Given the description of an element on the screen output the (x, y) to click on. 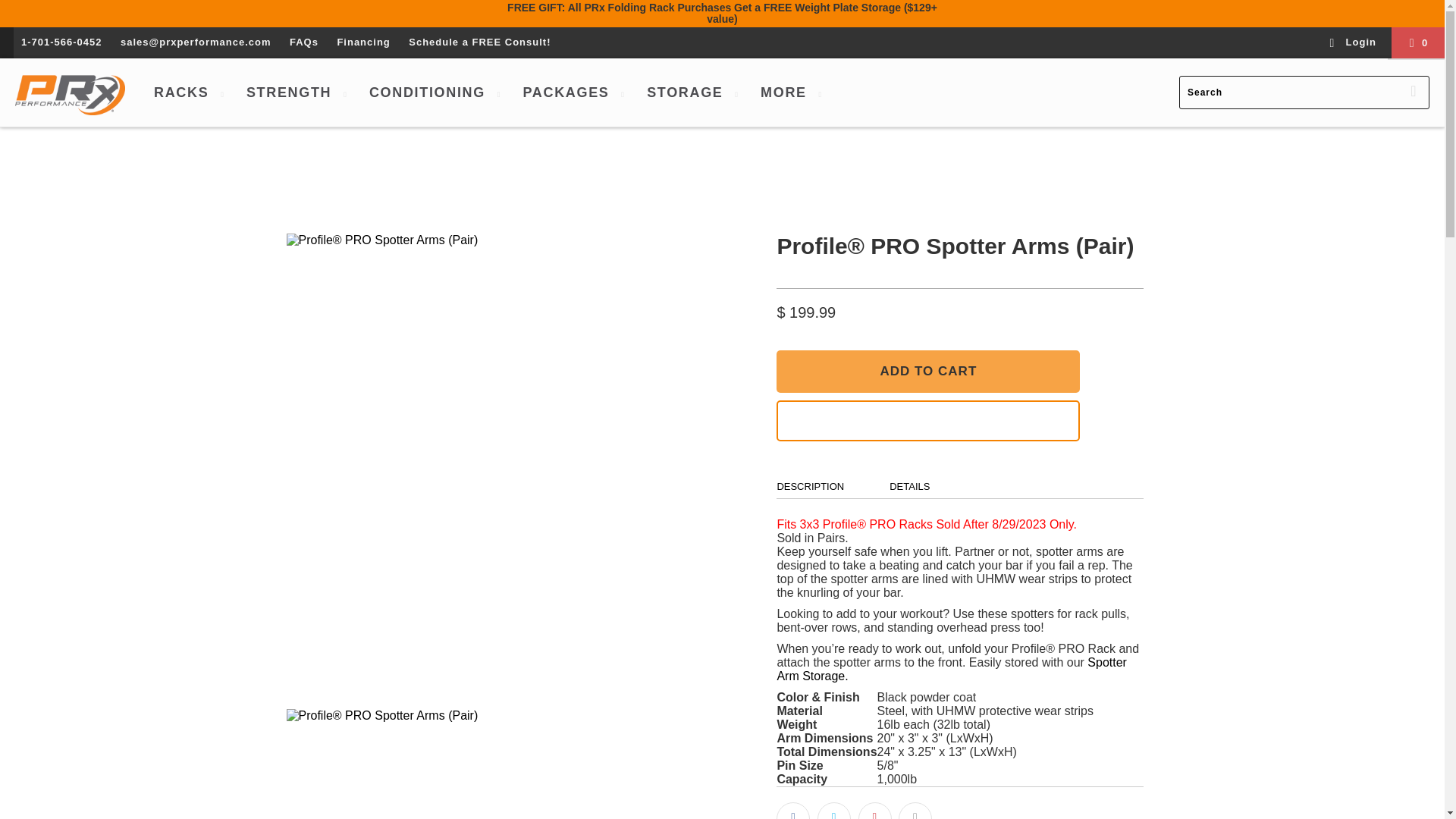
Spotter arm storage solution (951, 669)
PRx Performance (69, 92)
Email this to a friend (914, 810)
Share this on Twitter (833, 810)
Share this on Facebook (792, 810)
Share this on Pinterest (875, 810)
My Account  (1352, 42)
